Given the description of an element on the screen output the (x, y) to click on. 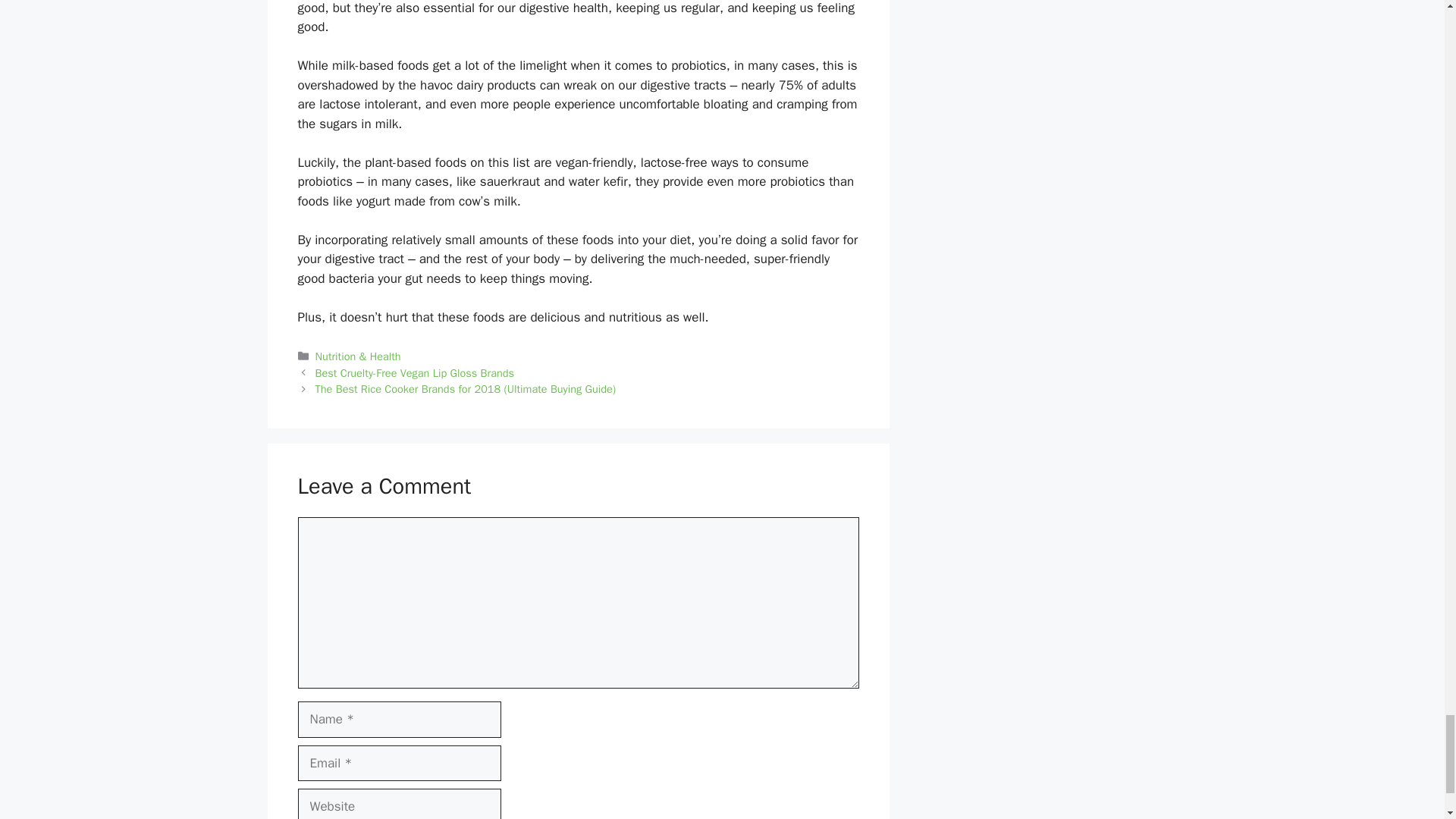
Best Cruelty-Free Vegan Lip Gloss Brands (414, 373)
